Given the description of an element on the screen output the (x, y) to click on. 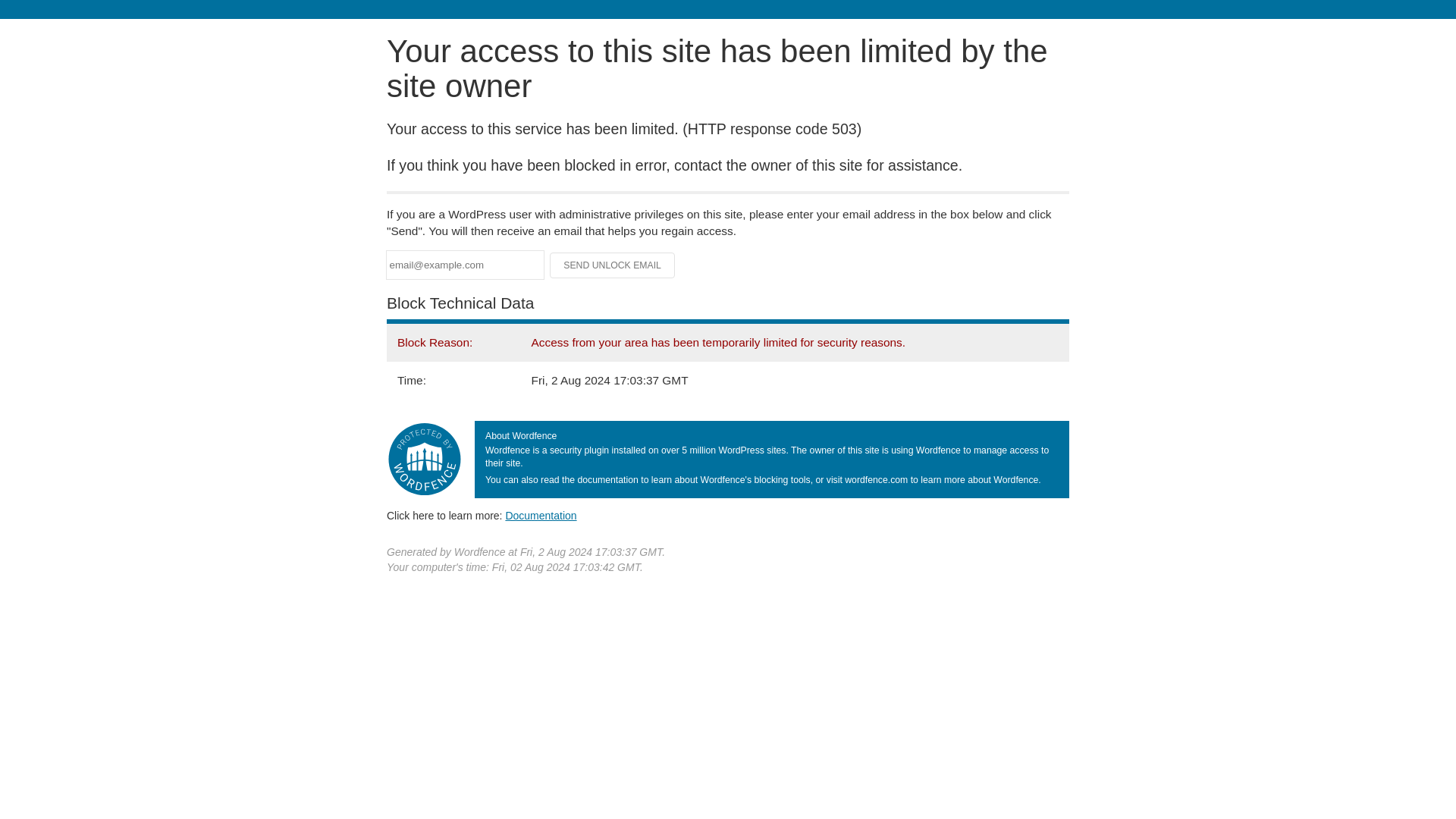
Send Unlock Email (612, 265)
Documentation (540, 515)
Send Unlock Email (612, 265)
